Given the description of an element on the screen output the (x, y) to click on. 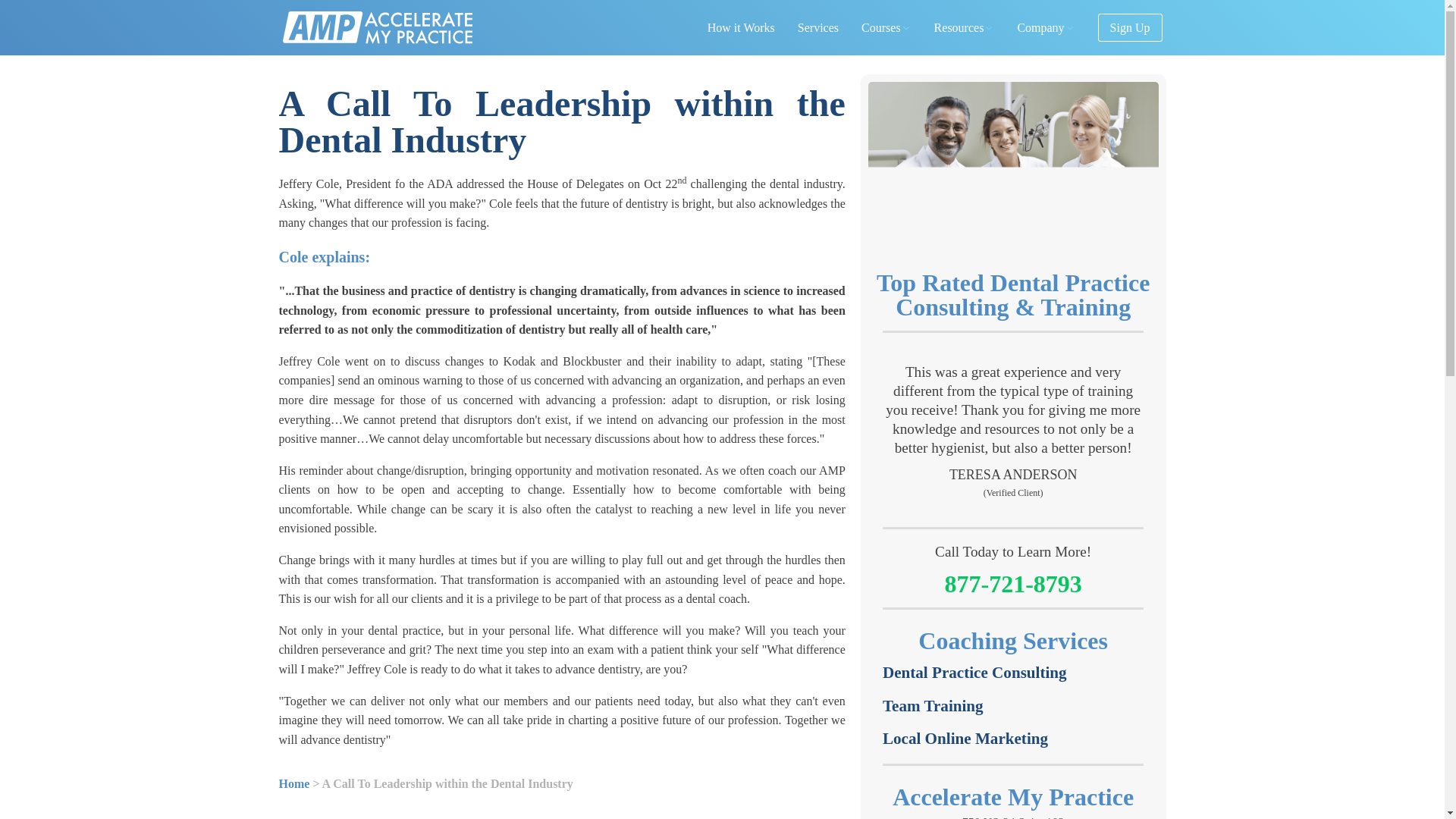
Services (818, 27)
Team Training (933, 706)
Dental Practice Consulting (974, 673)
877-721-8793 (1012, 581)
Company (1013, 816)
Resources (1046, 27)
Courses (964, 27)
Local Online Marketing (886, 27)
Sign Up (965, 739)
